Given the description of an element on the screen output the (x, y) to click on. 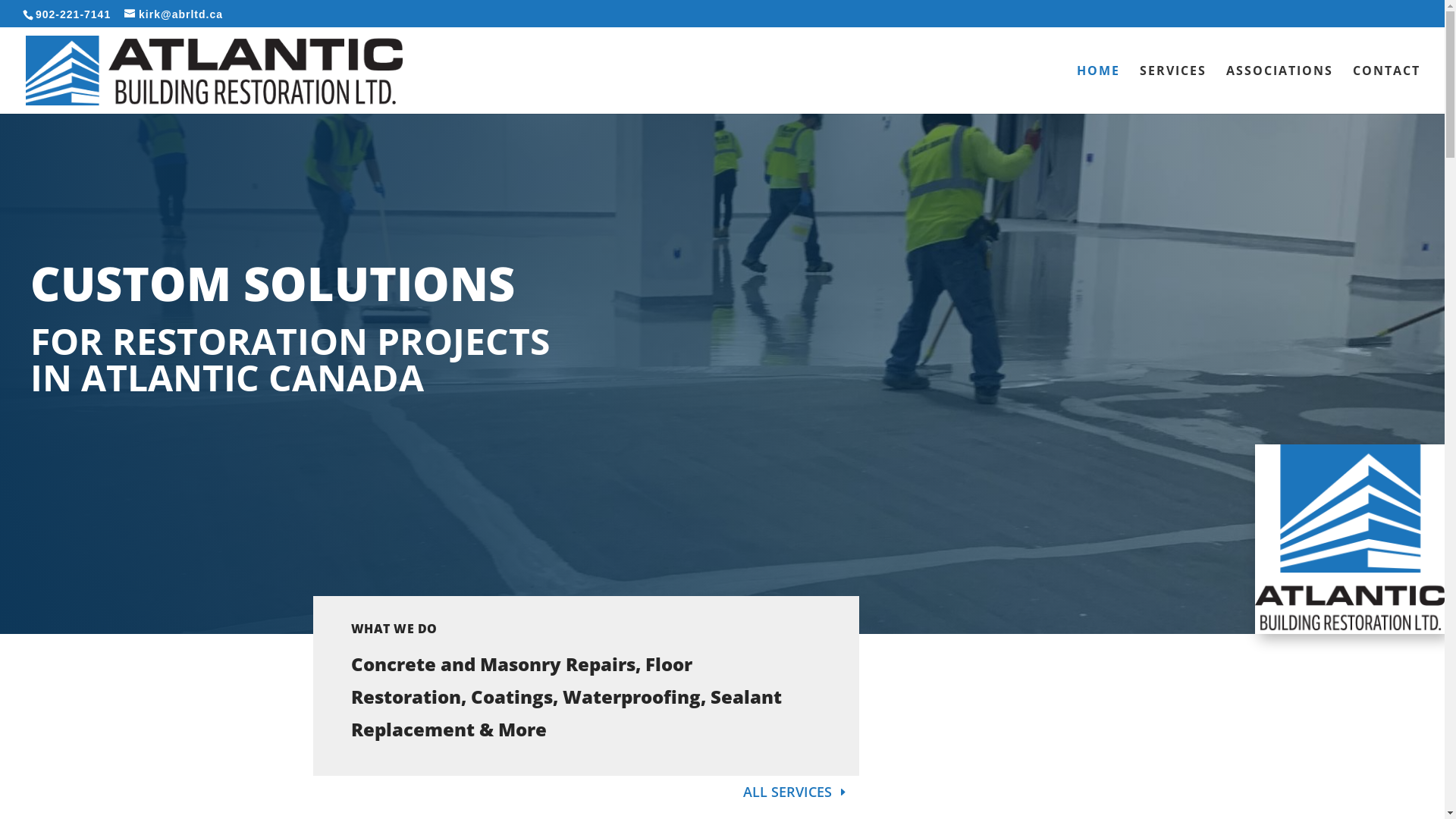
ABR Element type: hover (1349, 538)
CONTACT Element type: text (1386, 89)
kirk@abrltd.ca Element type: text (173, 13)
ALL SERVICES Element type: text (796, 790)
SERVICES Element type: text (1172, 89)
902-221-7141 Element type: text (71, 13)
HOME Element type: text (1098, 89)
ASSOCIATIONS Element type: text (1279, 89)
